Given the description of an element on the screen output the (x, y) to click on. 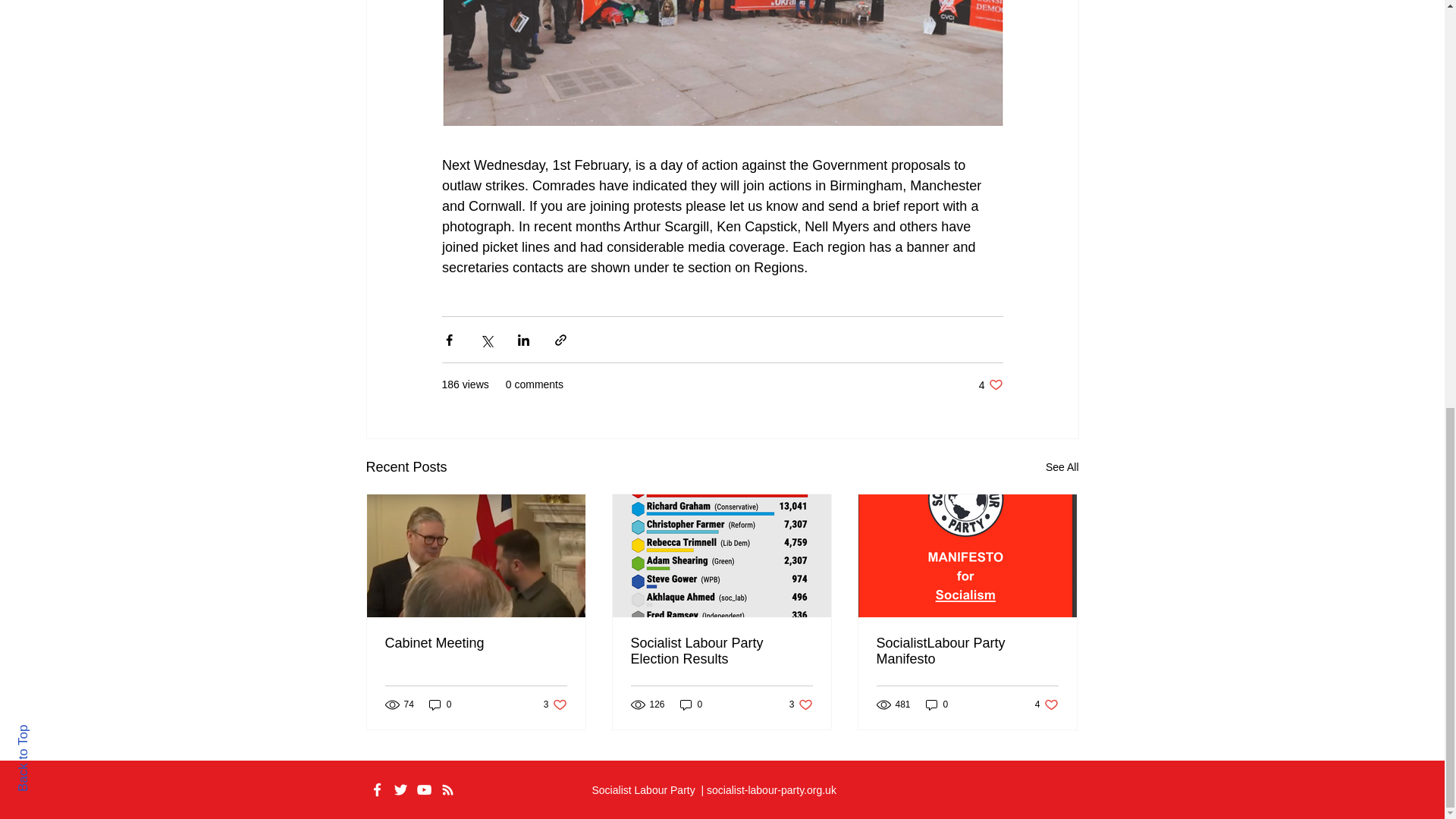
SocialistLabour Party Manifesto (967, 651)
Socialist Labour Party Election Results (721, 651)
See All (1061, 467)
0 (1046, 704)
Cabinet Meeting (691, 704)
0 (555, 704)
0 (476, 643)
